Given the description of an element on the screen output the (x, y) to click on. 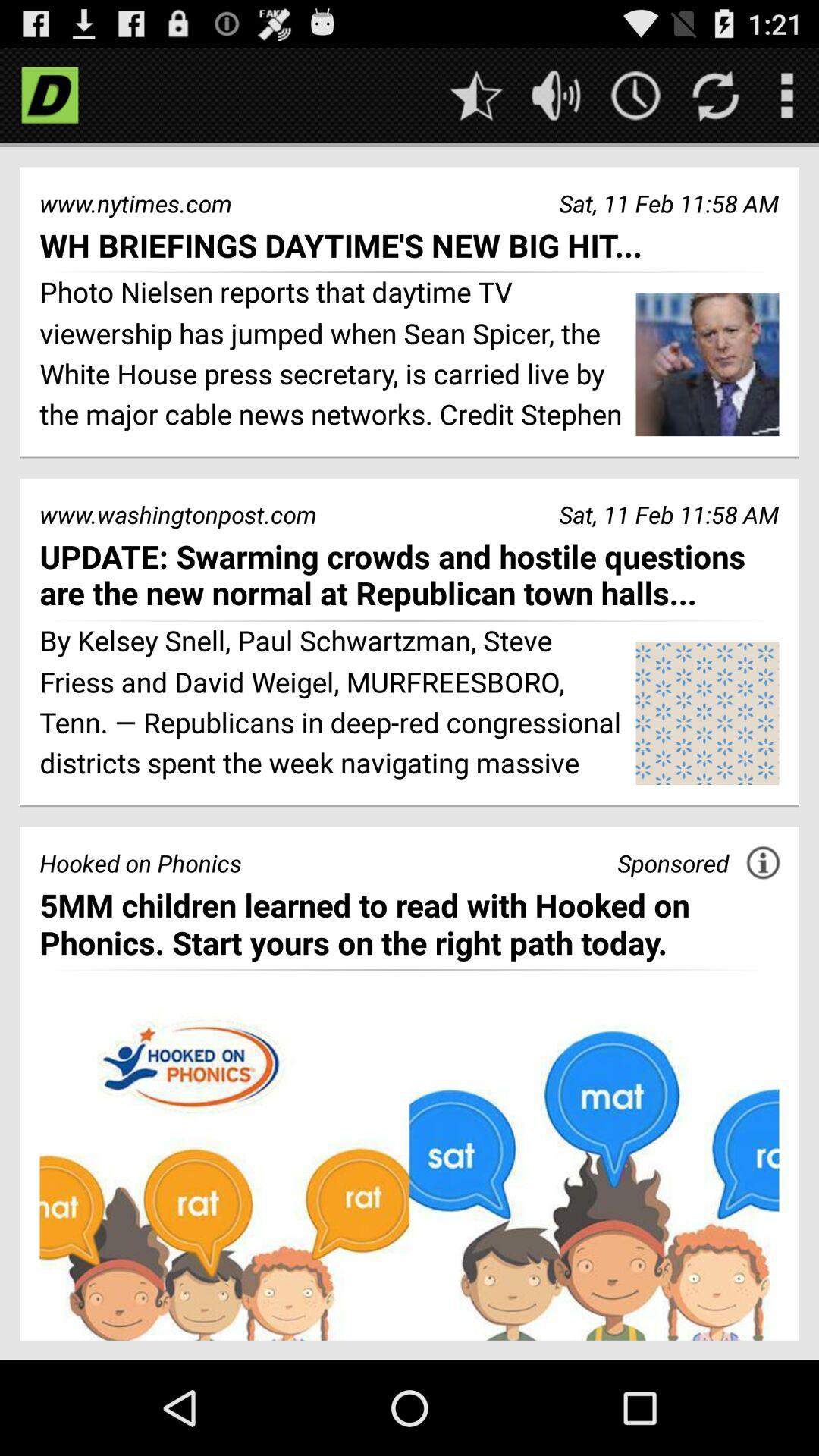
tap wh briefings daytime app (409, 244)
